Given the description of an element on the screen output the (x, y) to click on. 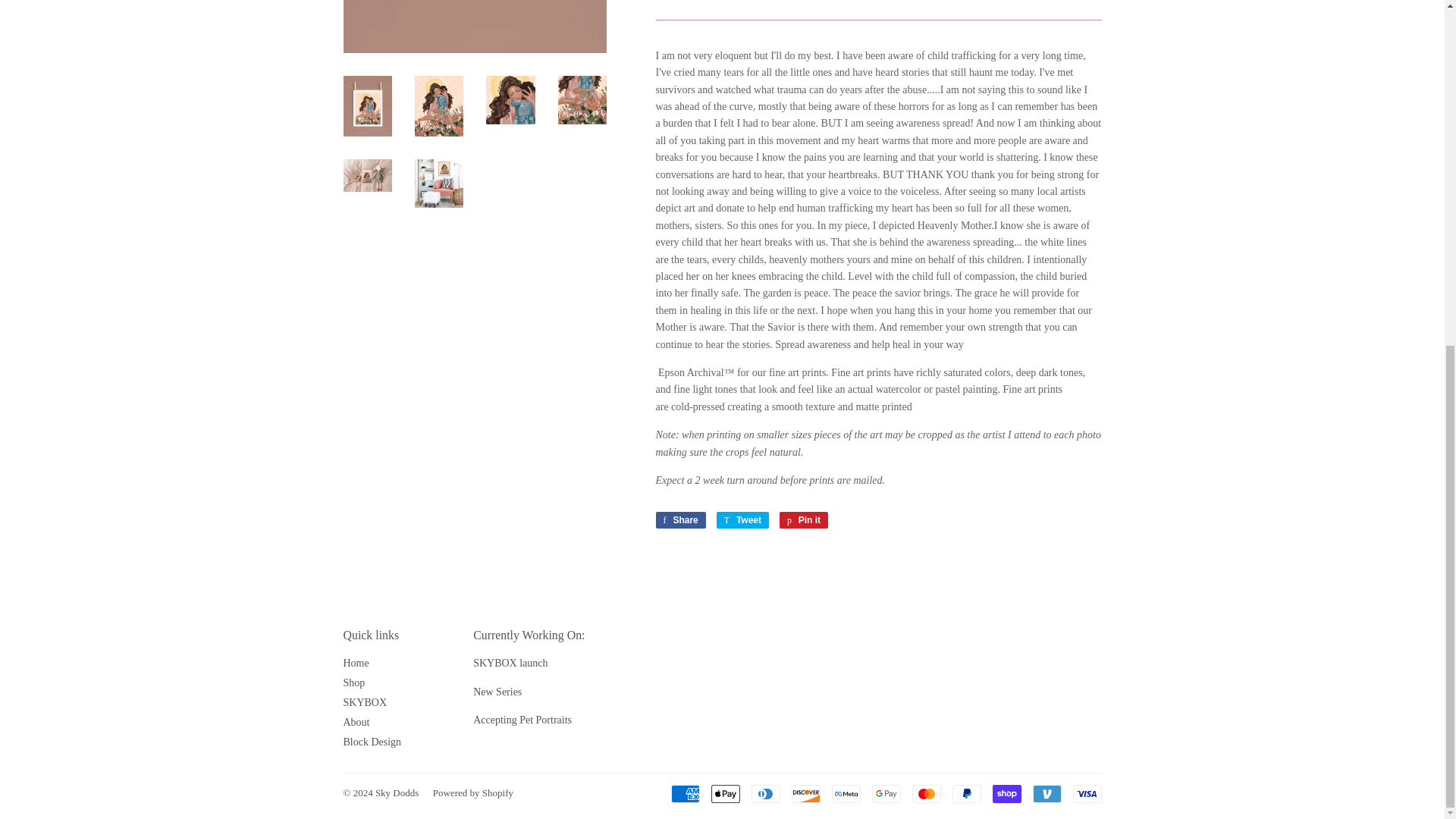
PayPal (966, 793)
Share on Facebook (679, 519)
Google Pay (886, 793)
Discover (806, 793)
Diners Club (764, 793)
Tweet on Twitter (742, 519)
Visa (1085, 793)
Meta Pay (845, 793)
Shop Pay (1005, 793)
American Express (683, 793)
Venmo (1046, 793)
Apple Pay (725, 793)
Mastercard (925, 793)
Pin on Pinterest (803, 519)
